Given the description of an element on the screen output the (x, y) to click on. 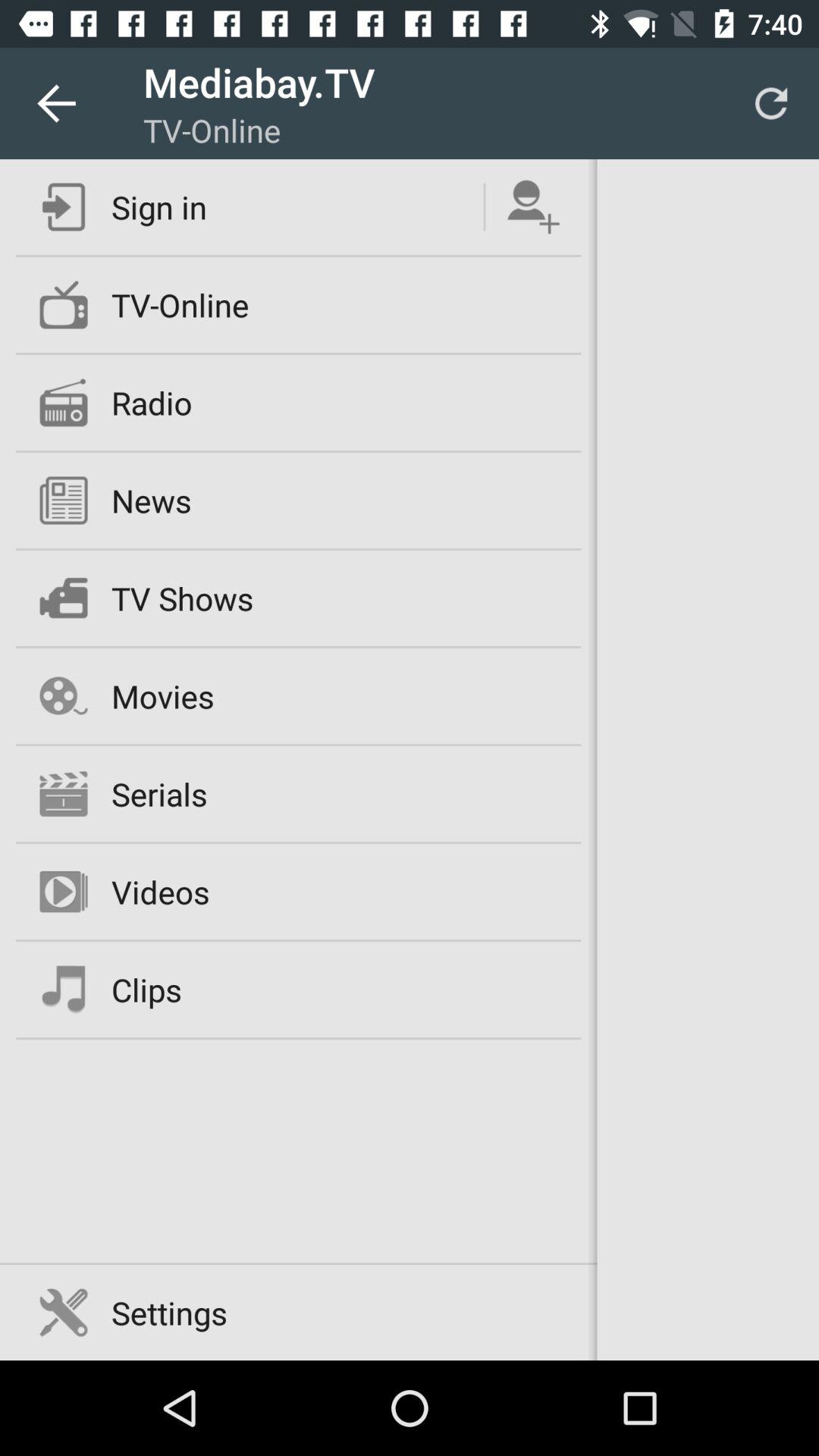
turn on serials (159, 793)
